Given the description of an element on the screen output the (x, y) to click on. 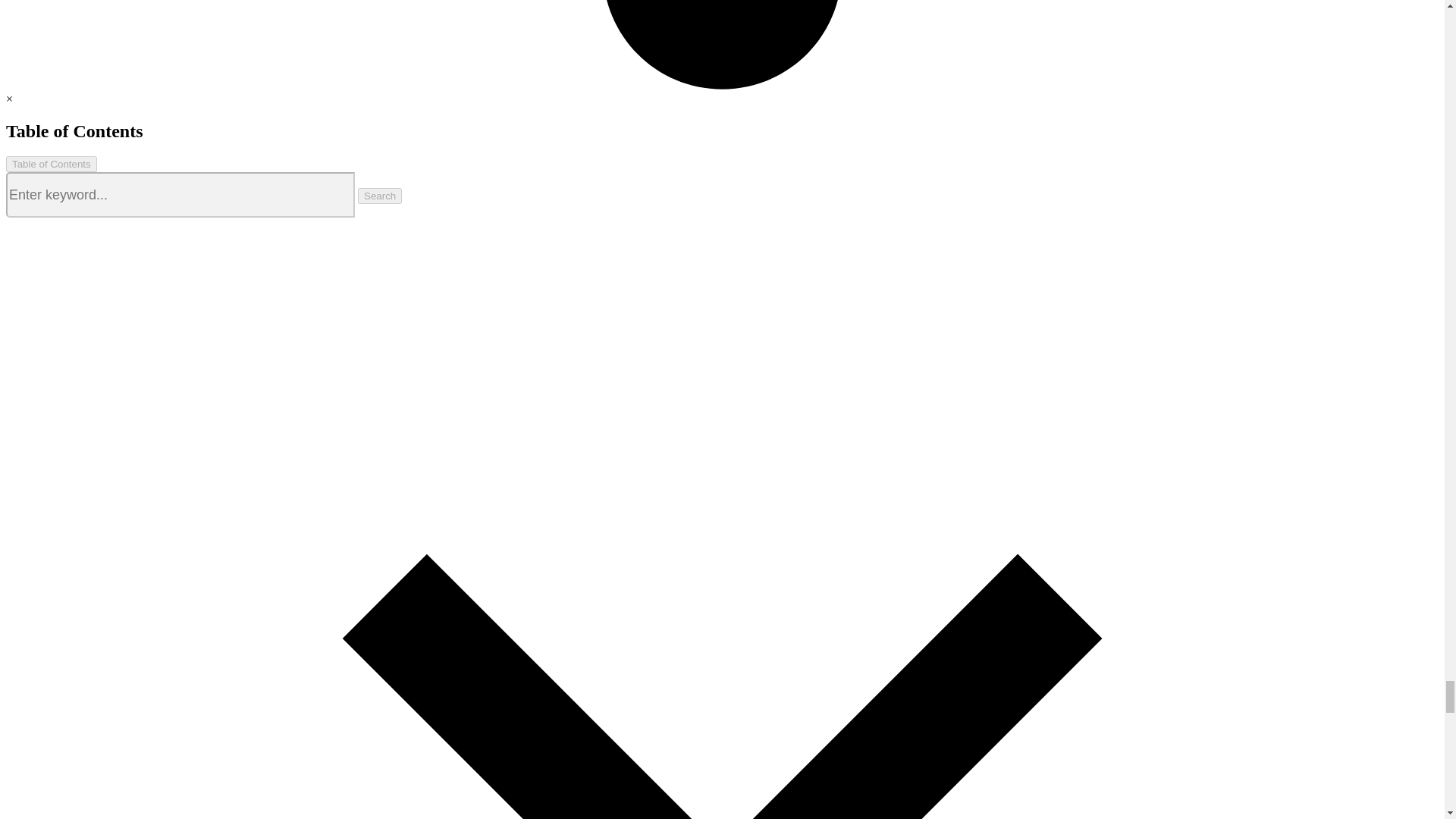
Table of Contents (51, 163)
